Given the description of an element on the screen output the (x, y) to click on. 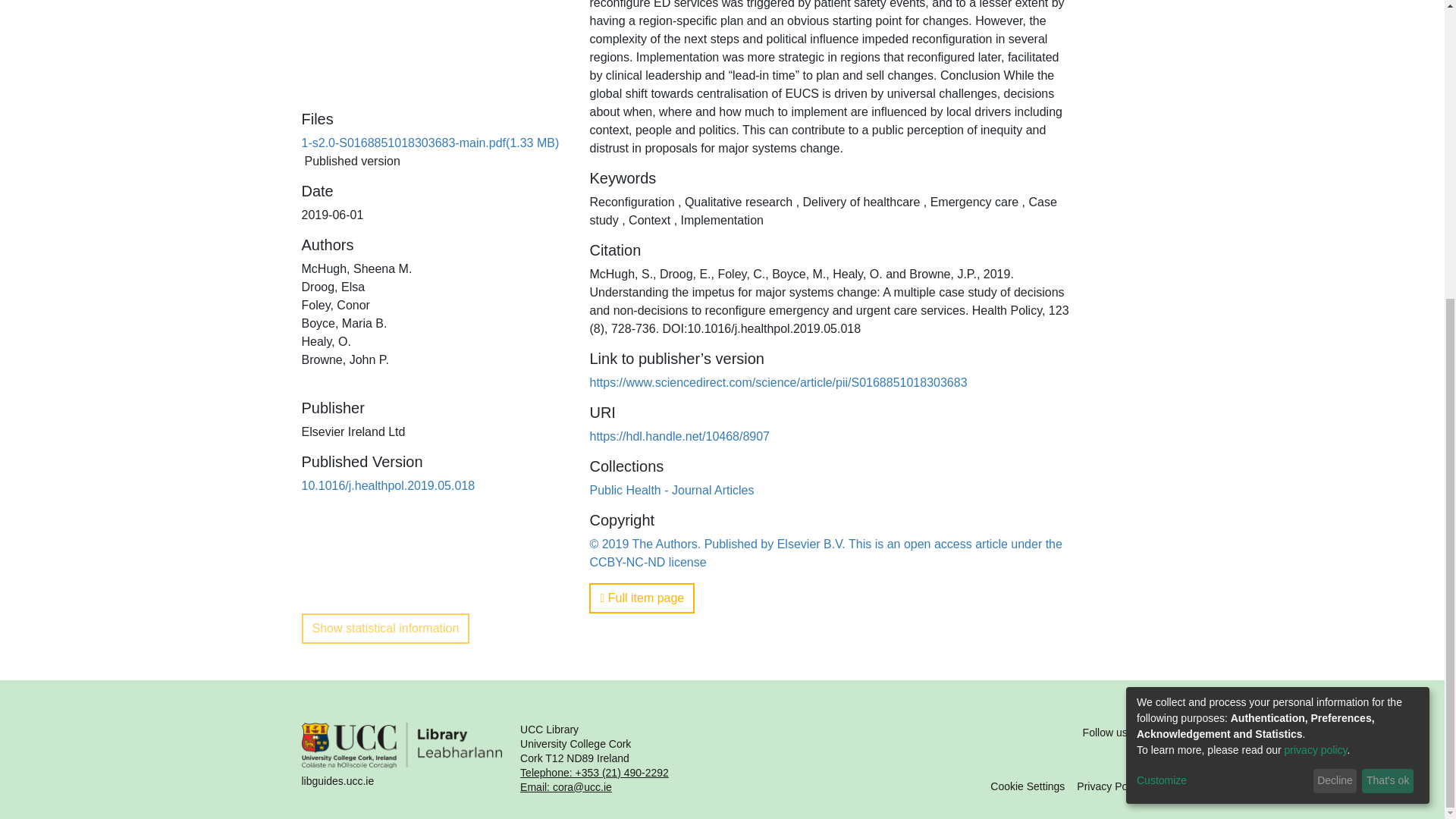
Customize (1222, 317)
Privacy Policy (1109, 786)
Show statistical information (385, 628)
Cookie Settings (1027, 786)
privacy policy (1316, 286)
Public Health - Journal Articles (671, 490)
Full item page (641, 598)
That's ok (1387, 317)
libguides.ucc.ie (401, 758)
Decline (1334, 317)
